Given the description of an element on the screen output the (x, y) to click on. 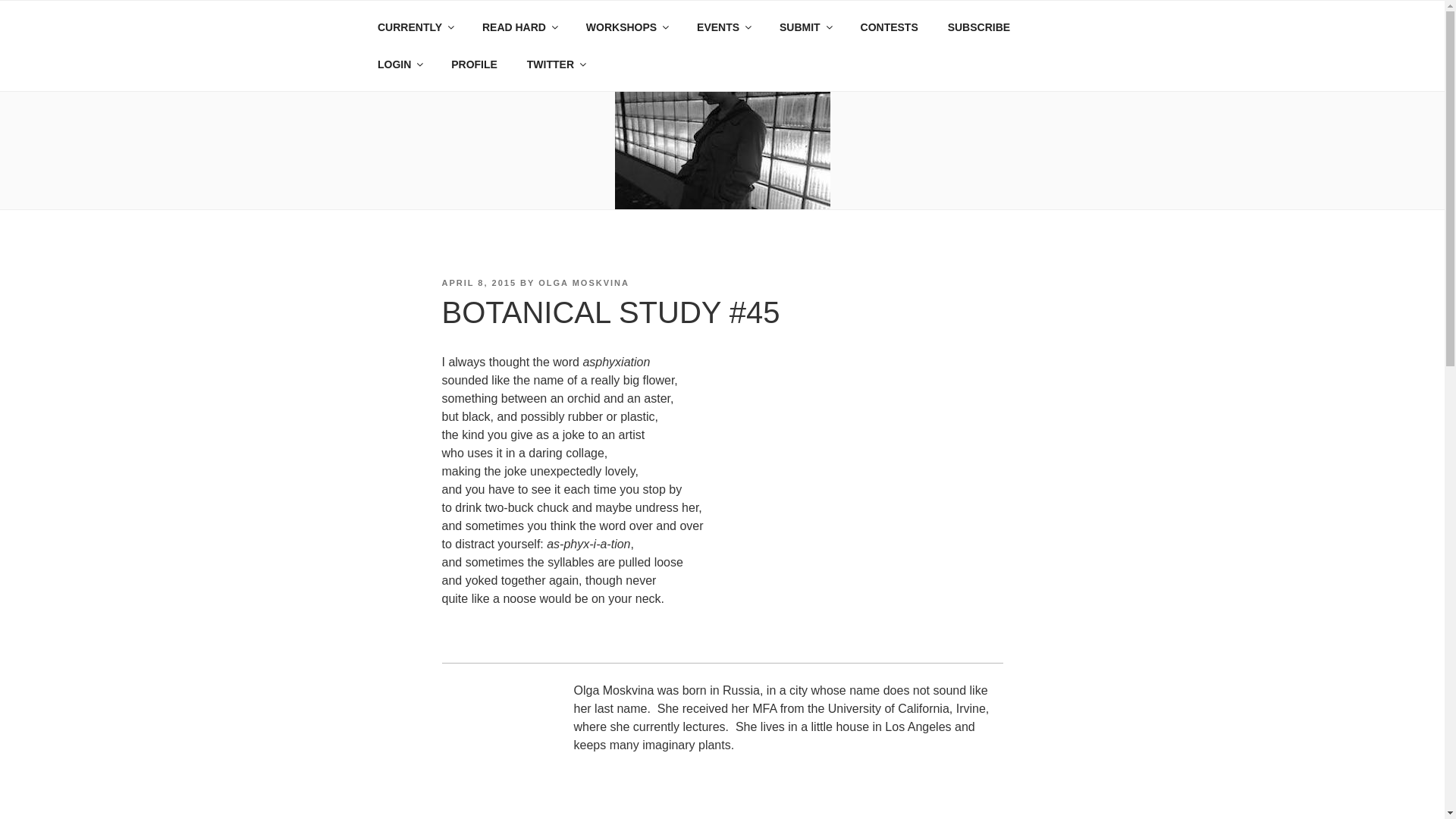
READ HARD (518, 27)
CURRENTLY (414, 27)
WORKSHOPS (625, 27)
